Given the description of an element on the screen output the (x, y) to click on. 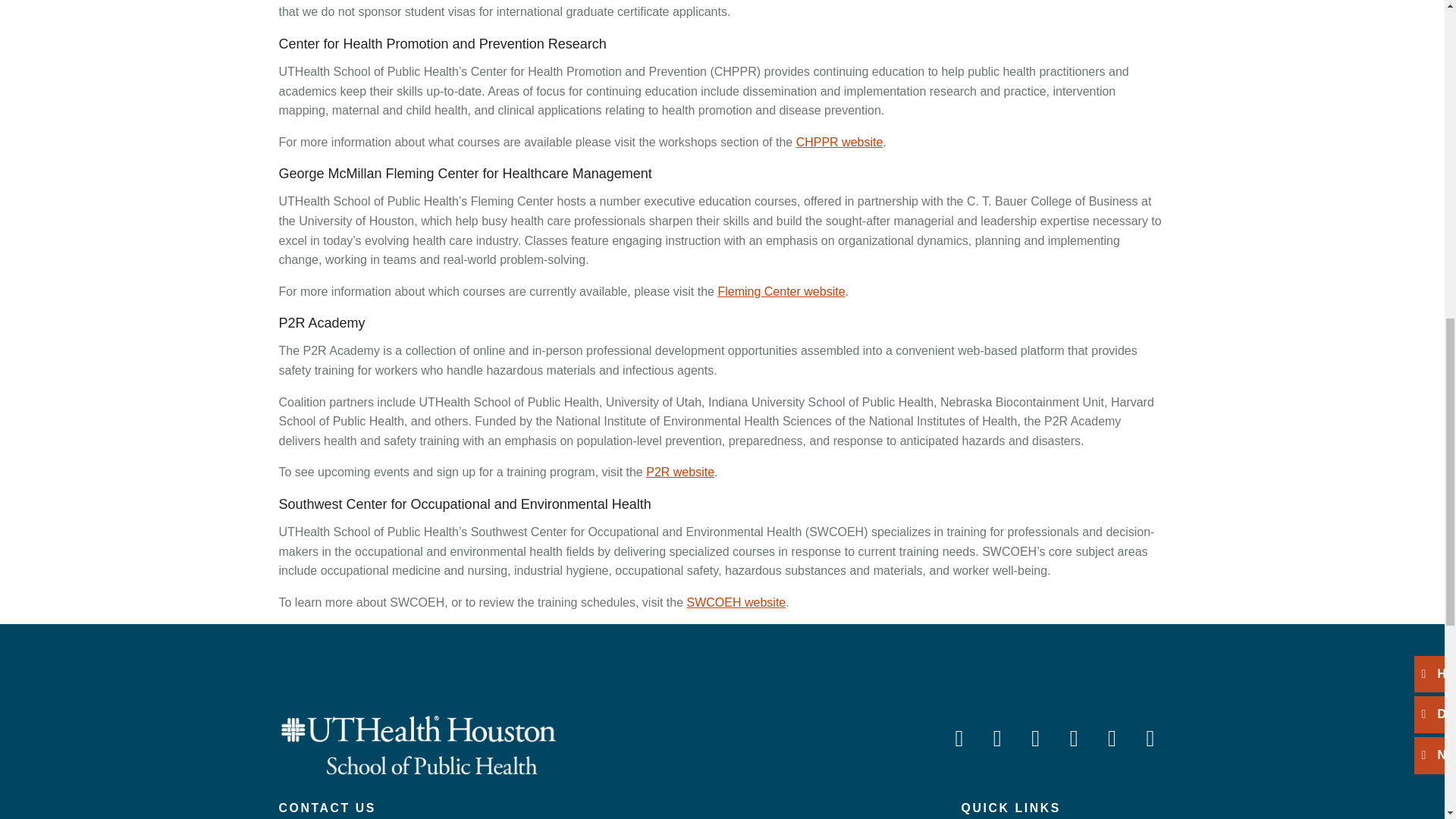
Link to SPH Website (419, 743)
CHPPR website (839, 141)
P2R website (680, 472)
Fleming Center website (780, 291)
SWCOEH website (736, 602)
